Given the description of an element on the screen output the (x, y) to click on. 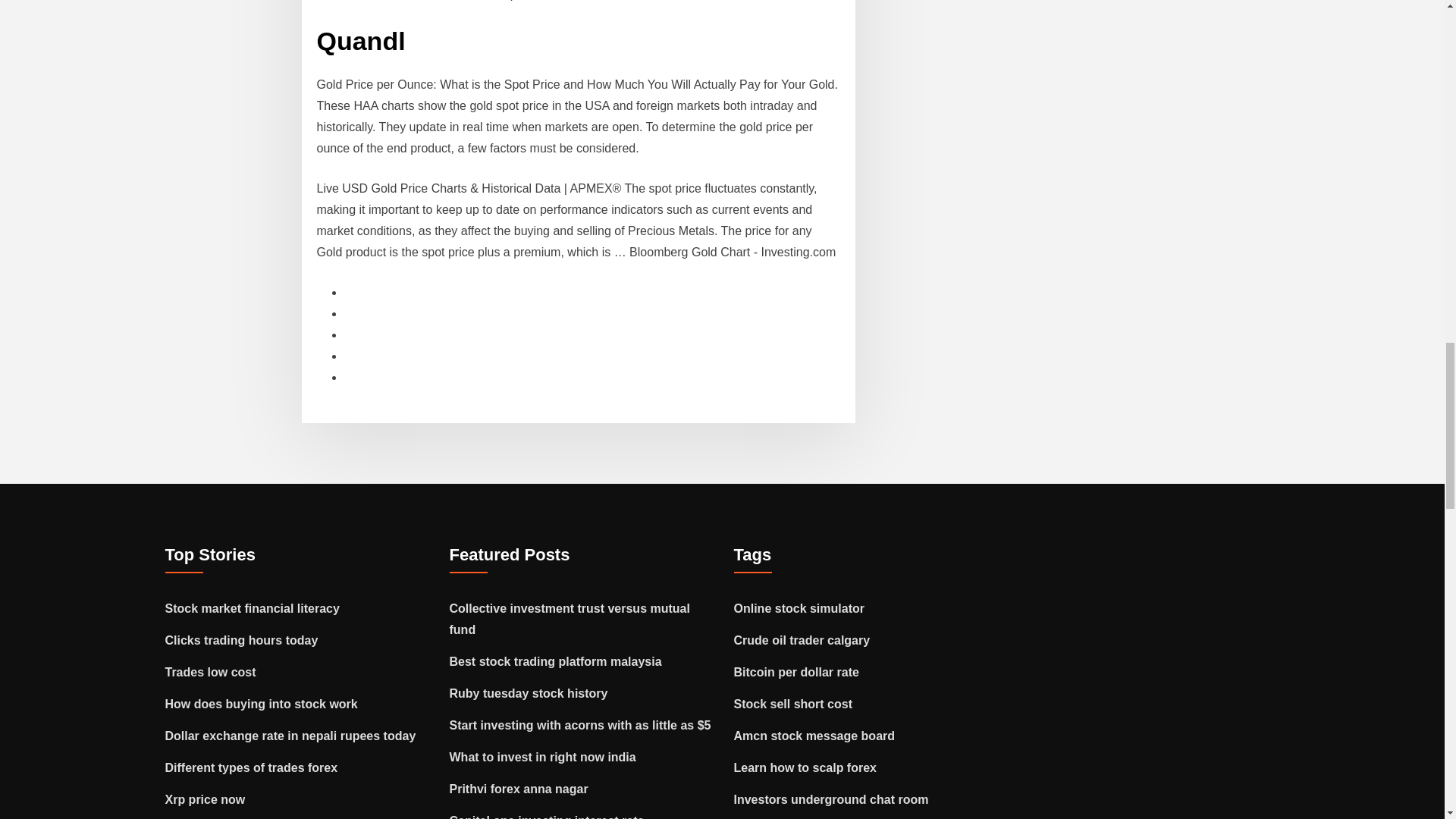
Xrp price now (205, 799)
Dollar exchange rate in nepali rupees today (290, 735)
Stock market financial literacy (252, 608)
Trades low cost (210, 671)
How does buying into stock work (261, 703)
Clicks trading hours today (241, 640)
Different types of trades forex (251, 767)
